Given the description of an element on the screen output the (x, y) to click on. 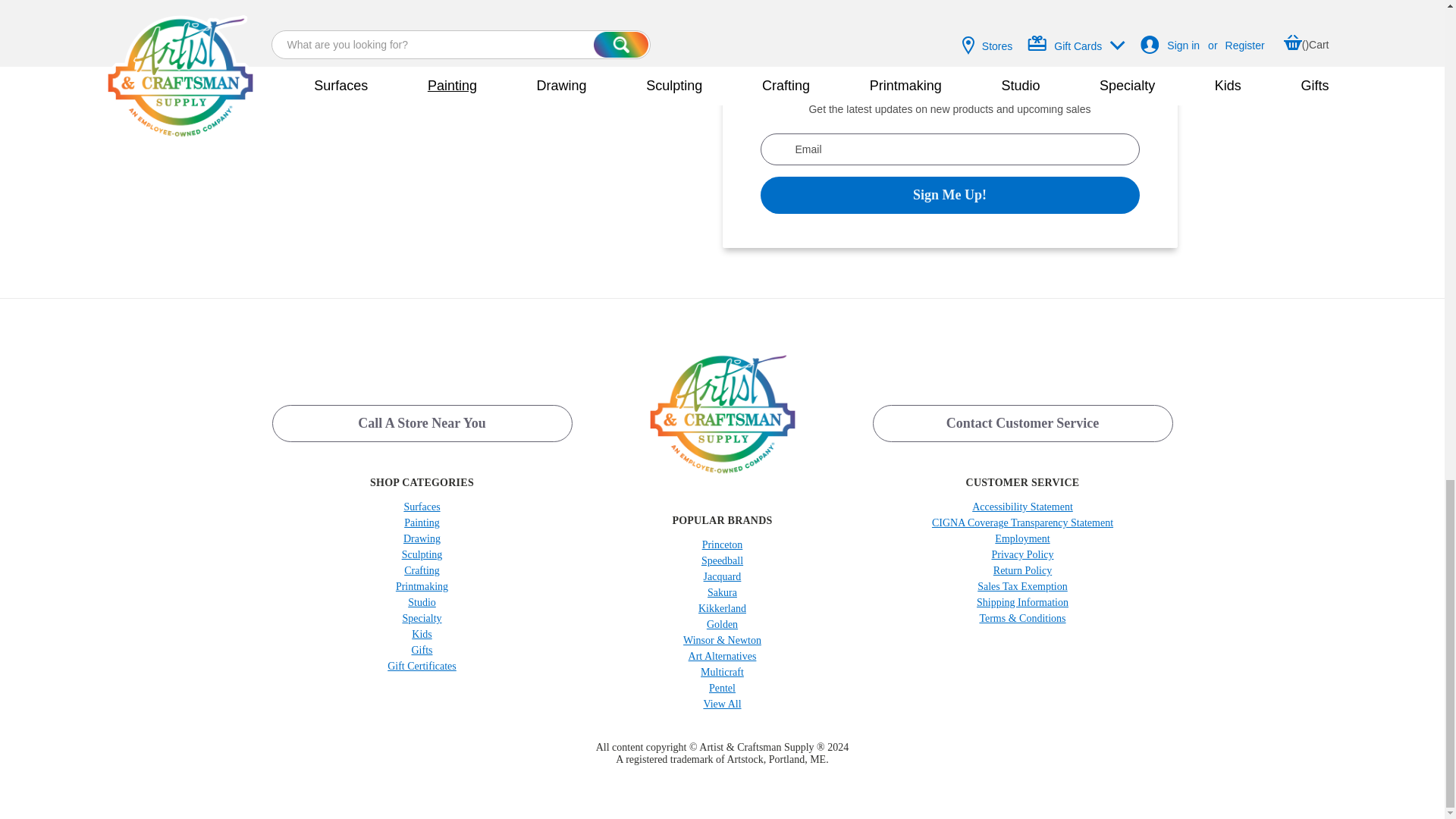
Sign Me Up! (949, 194)
